Given the description of an element on the screen output the (x, y) to click on. 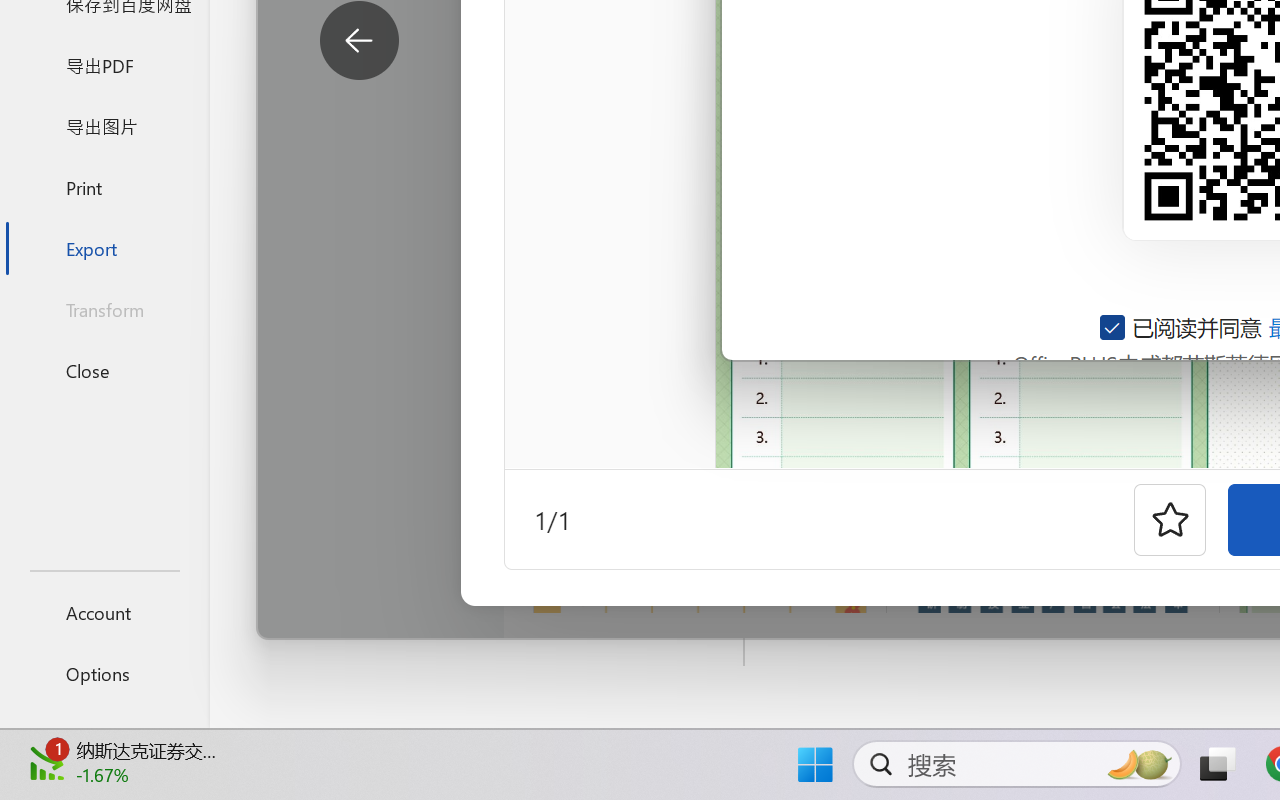
Export (104, 248)
Print (104, 186)
Transform (104, 309)
Account (104, 612)
Options (104, 673)
